Given the description of an element on the screen output the (x, y) to click on. 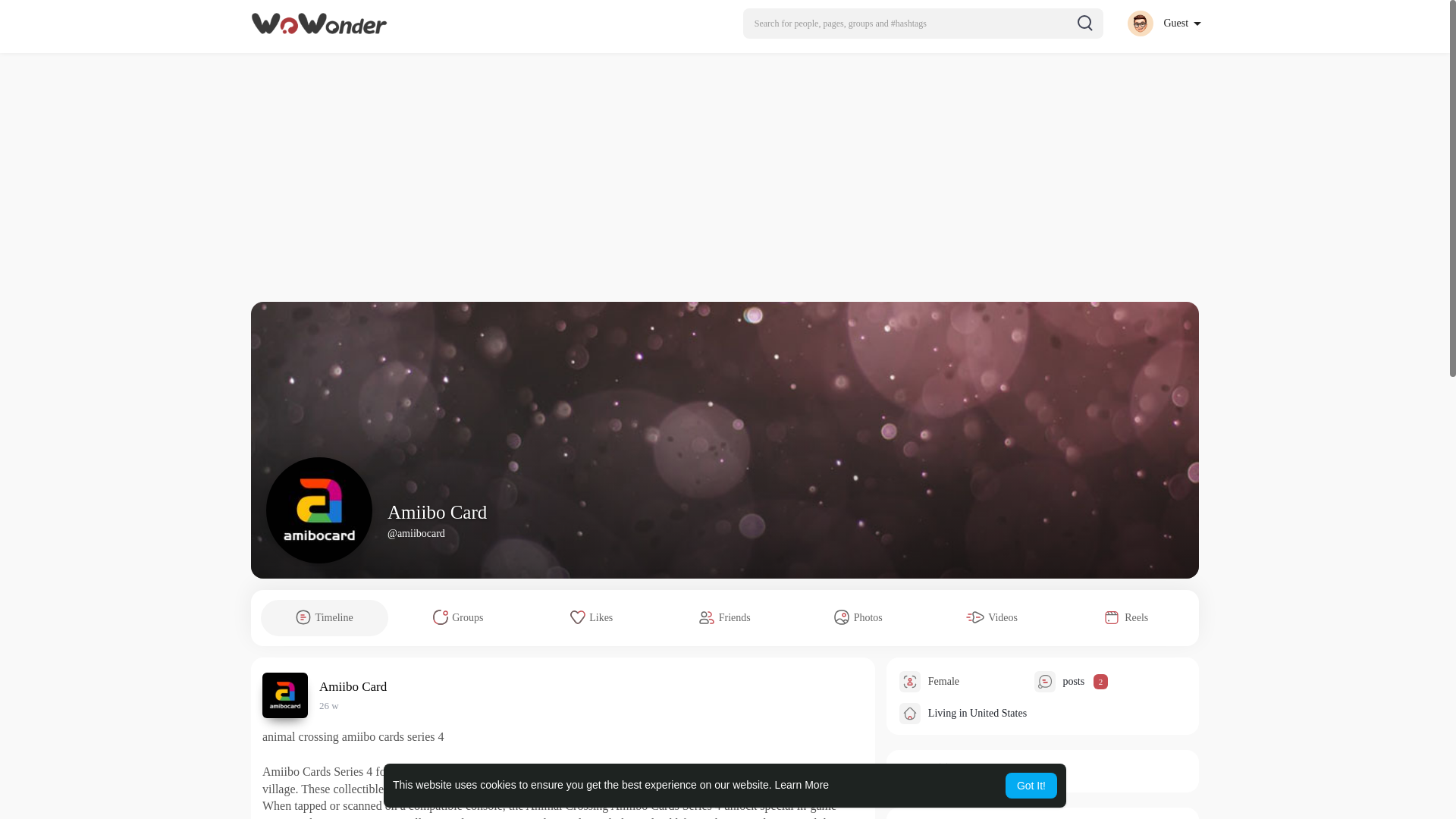
26 w (328, 705)
Guest (1163, 23)
Albums (916, 767)
Photos (857, 617)
Amiibo Card (354, 686)
Groups (457, 617)
Likes (591, 617)
Amiibo Card (436, 512)
Reels (1125, 617)
26 w (328, 705)
Timeline (324, 617)
Videos (991, 617)
Got It! (1031, 785)
Friends (725, 617)
